Given the description of an element on the screen output the (x, y) to click on. 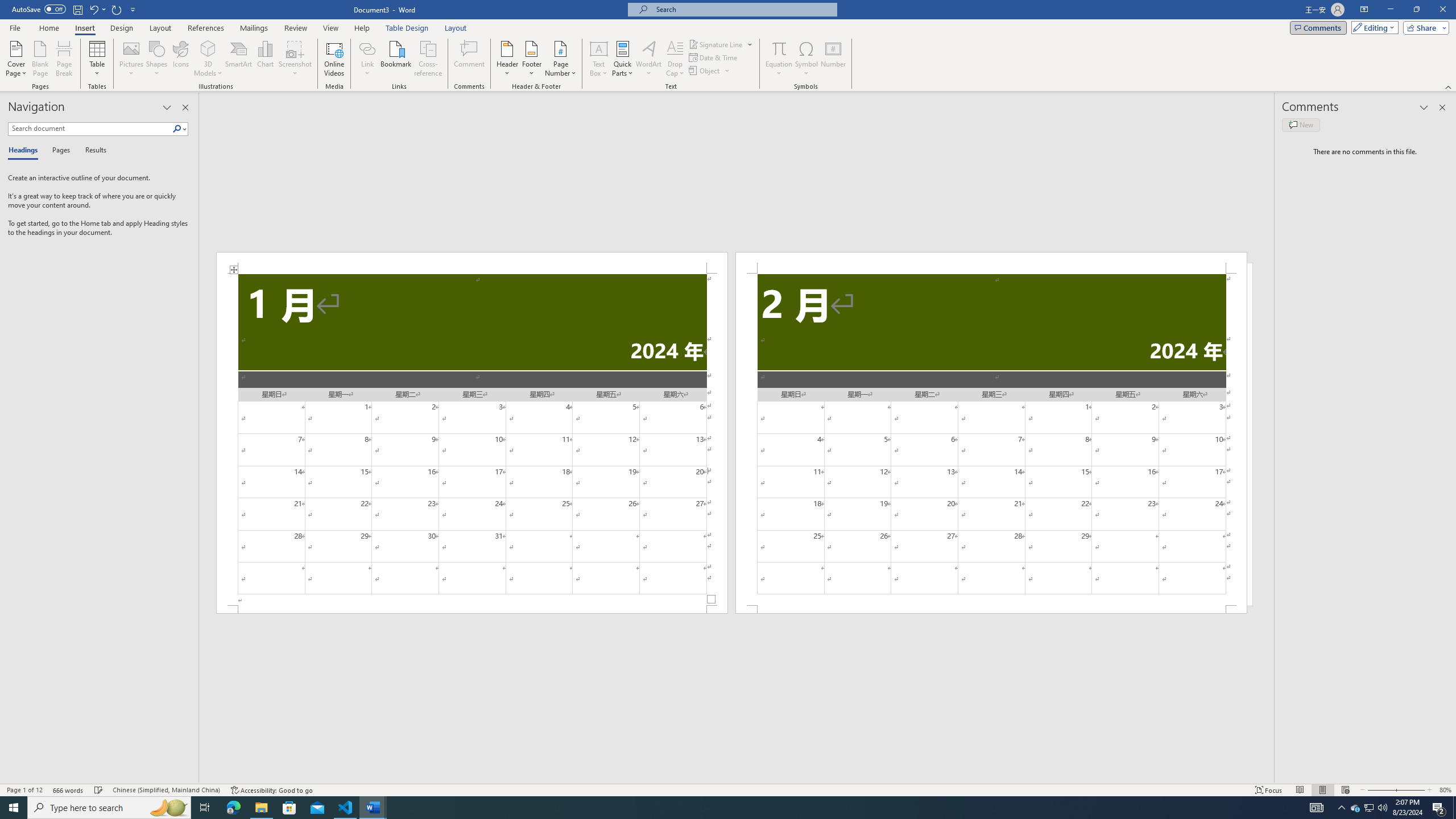
Comment (469, 58)
Chart... (265, 58)
Text Box (598, 58)
Equation (778, 48)
Page Number Page 1 of 12 (24, 790)
Signature Line (721, 44)
Page 1 content (471, 439)
Table (97, 58)
